Given the description of an element on the screen output the (x, y) to click on. 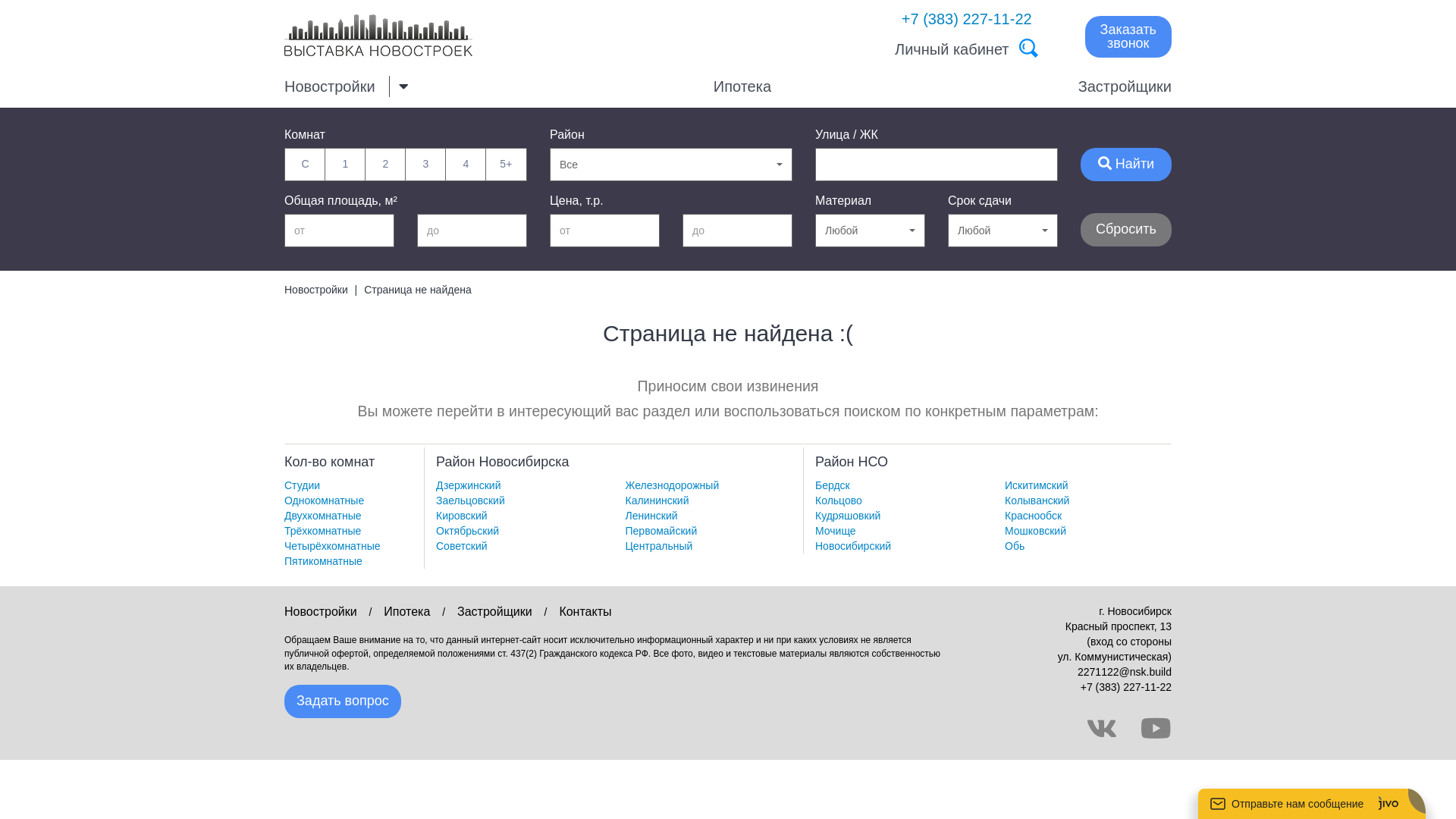
2271122@nsk.build Element type: text (1124, 671)
+7 (383) 227-11-22 Element type: text (966, 18)
+7 (383) 227-11-22 Element type: text (1125, 686)
